Given the description of an element on the screen output the (x, y) to click on. 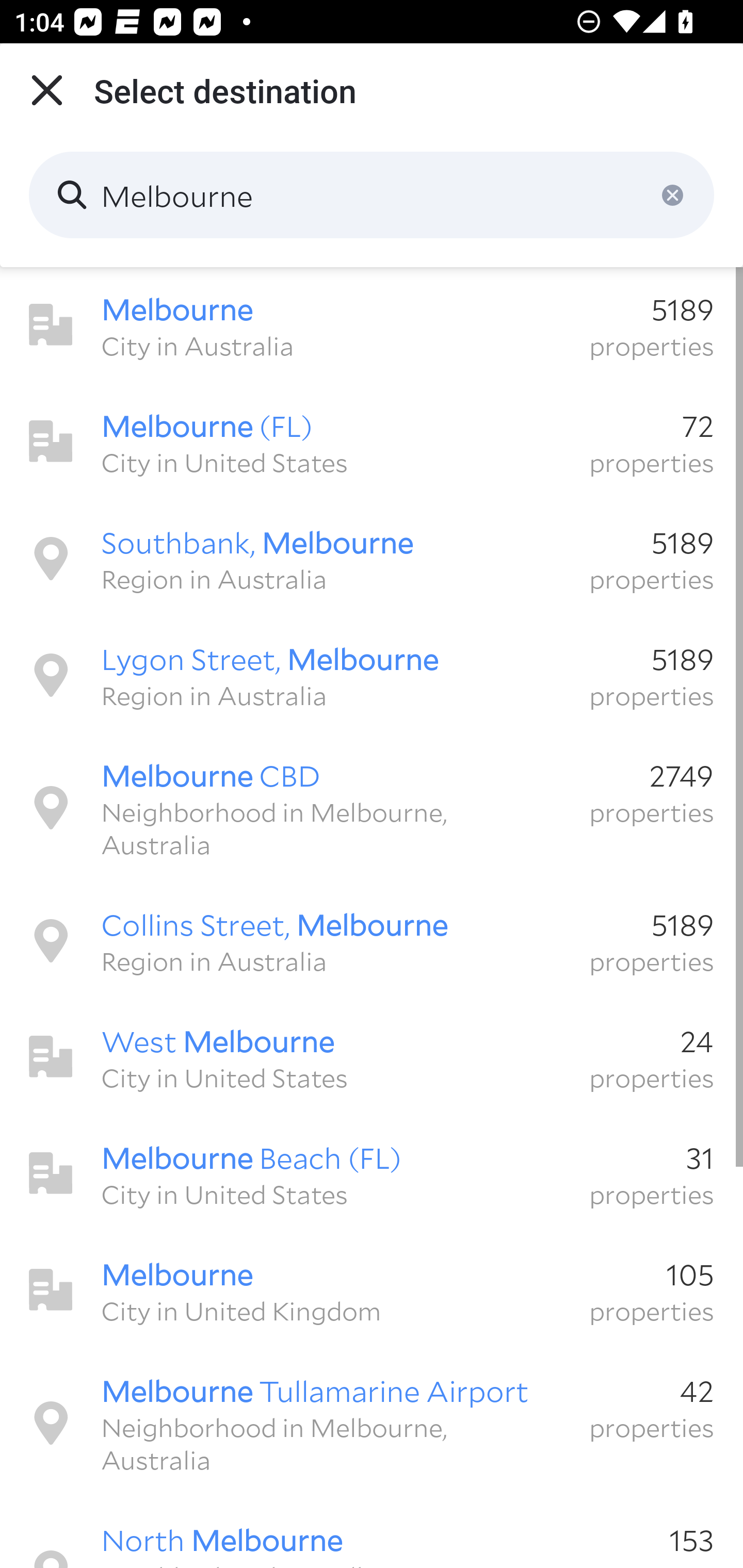
Melbourne (371, 195)
Melbourne 5189 City in Australia properties (371, 325)
Melbourne (FL) 72 City in United States properties (371, 442)
West Melbourne 24 City in United States properties (371, 1057)
Melbourne 105 City in United Kingdom properties (371, 1290)
